Given the description of an element on the screen output the (x, y) to click on. 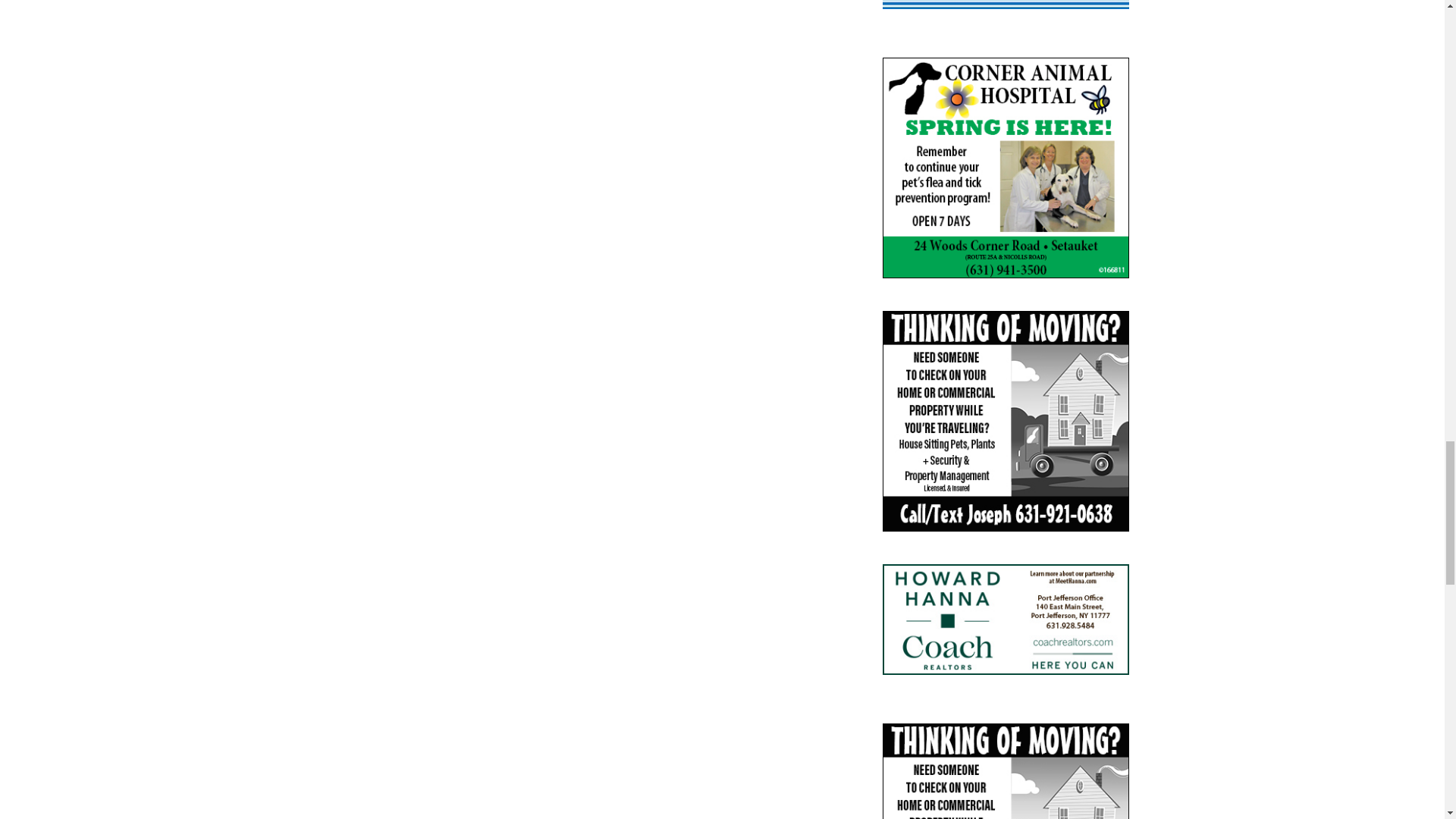
Corner Animal Hospital (1005, 167)
